Given the description of an element on the screen output the (x, y) to click on. 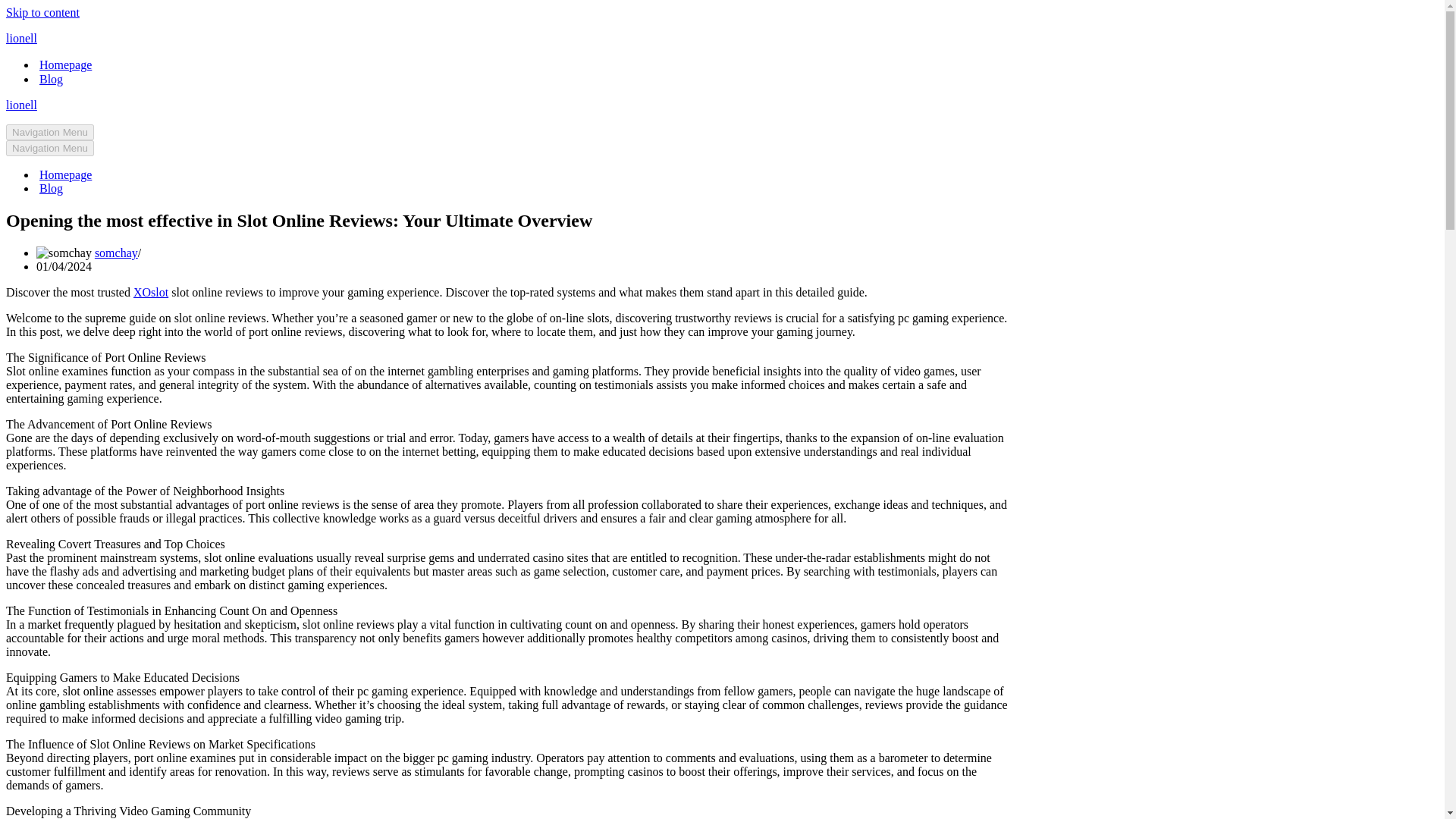
Homepage (65, 64)
XOslot (150, 291)
Blog (50, 188)
Blog (50, 79)
Navigation Menu (49, 132)
Homepage (65, 174)
Skip to content (42, 11)
Navigation Menu (49, 148)
somchay (116, 252)
Posts by somchay (116, 252)
